Given the description of an element on the screen output the (x, y) to click on. 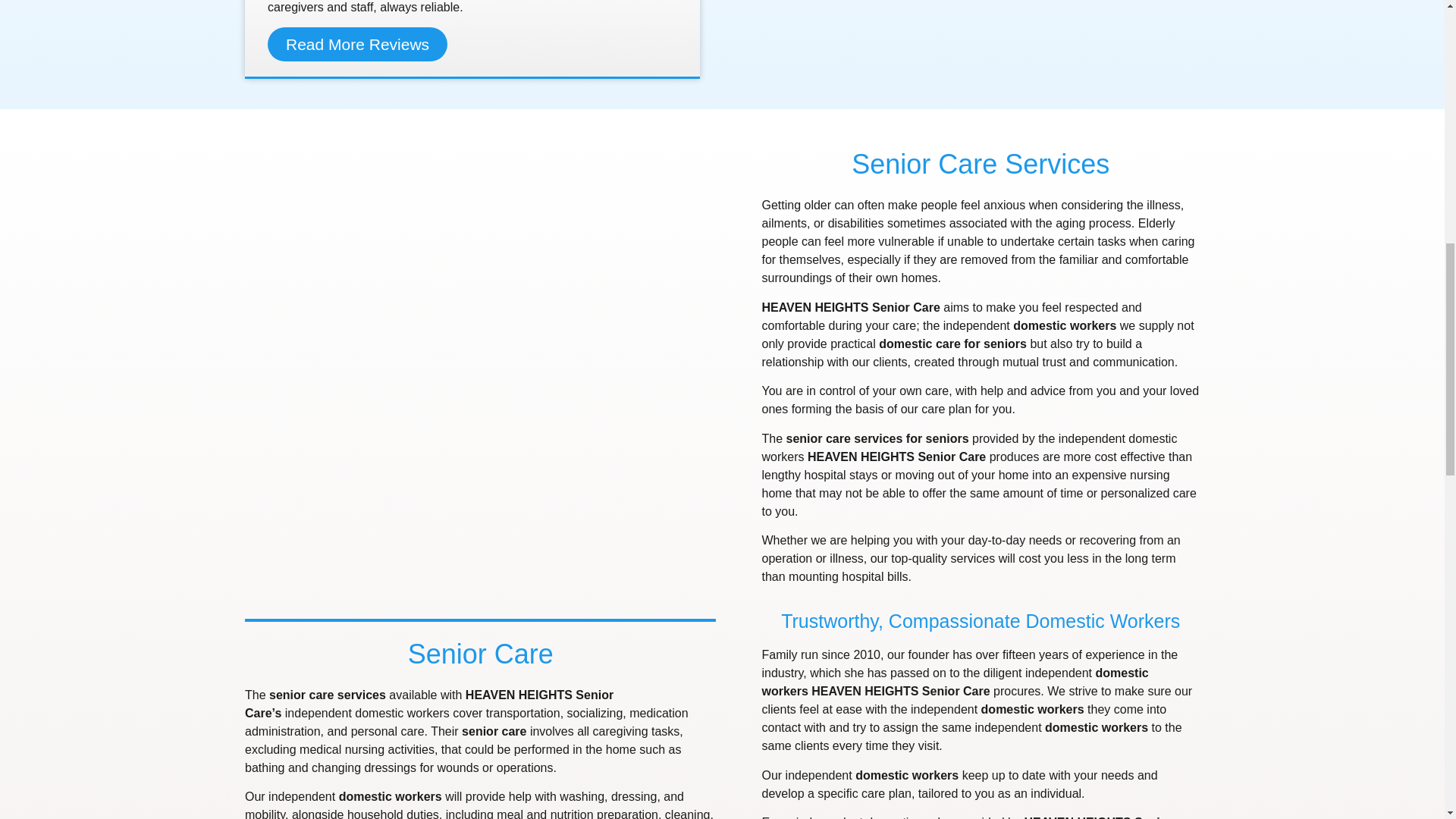
Read More Reviews (356, 44)
